Given the description of an element on the screen output the (x, y) to click on. 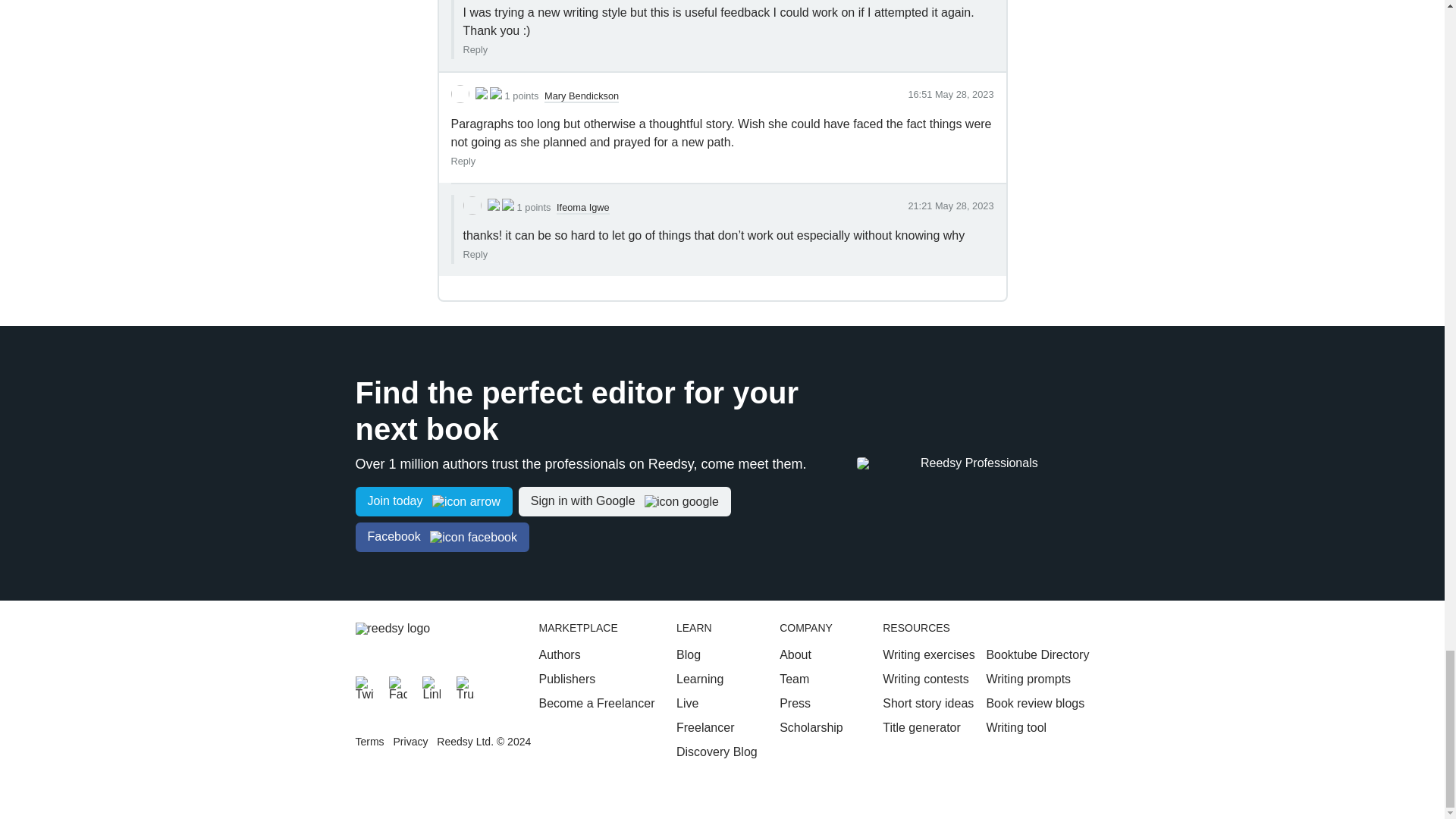
Sign up (433, 501)
Sign in with Facebook (441, 537)
Trustpilot (465, 685)
Facebook (397, 685)
Sign in with Google (624, 501)
LinkedIn (431, 685)
Twitter (363, 685)
